Given the description of an element on the screen output the (x, y) to click on. 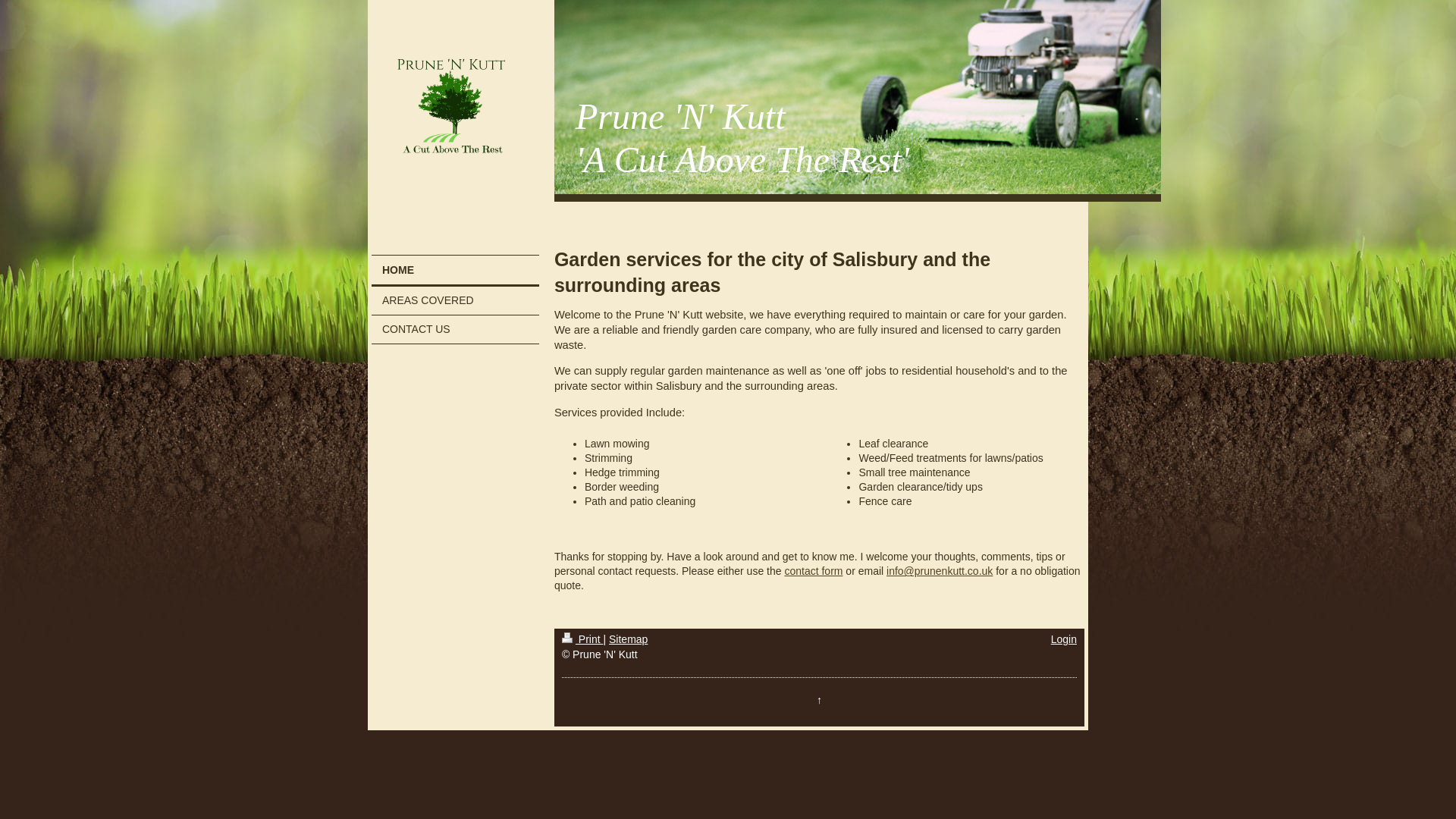
CONTACT US (454, 329)
Sitemap (627, 639)
Login (1064, 639)
HOME (454, 270)
Prune 'N' Kutt'A Cut Above The Rest' (741, 137)
Print (583, 639)
AREAS COVERED (454, 299)
contact form (813, 571)
